Given the description of an element on the screen output the (x, y) to click on. 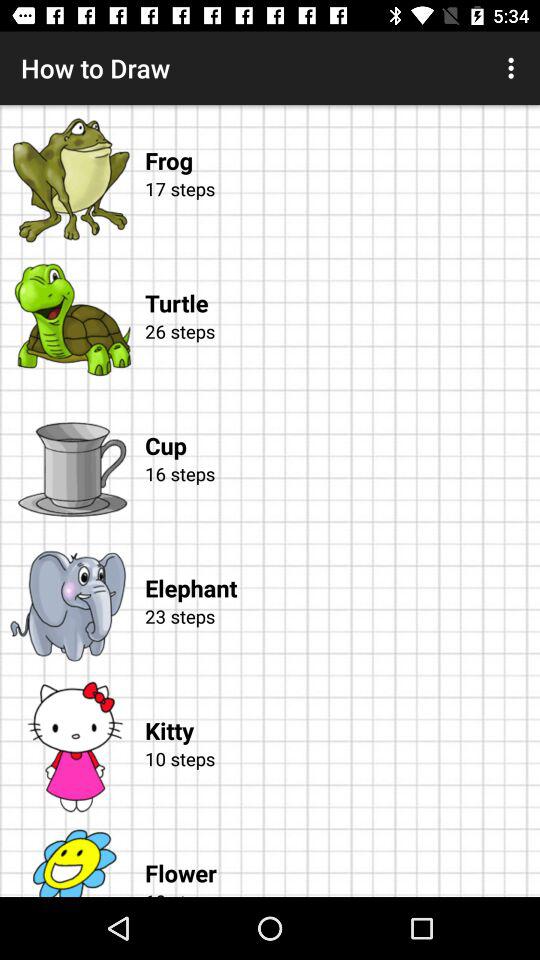
click the app below 17 steps item (342, 283)
